Given the description of an element on the screen output the (x, y) to click on. 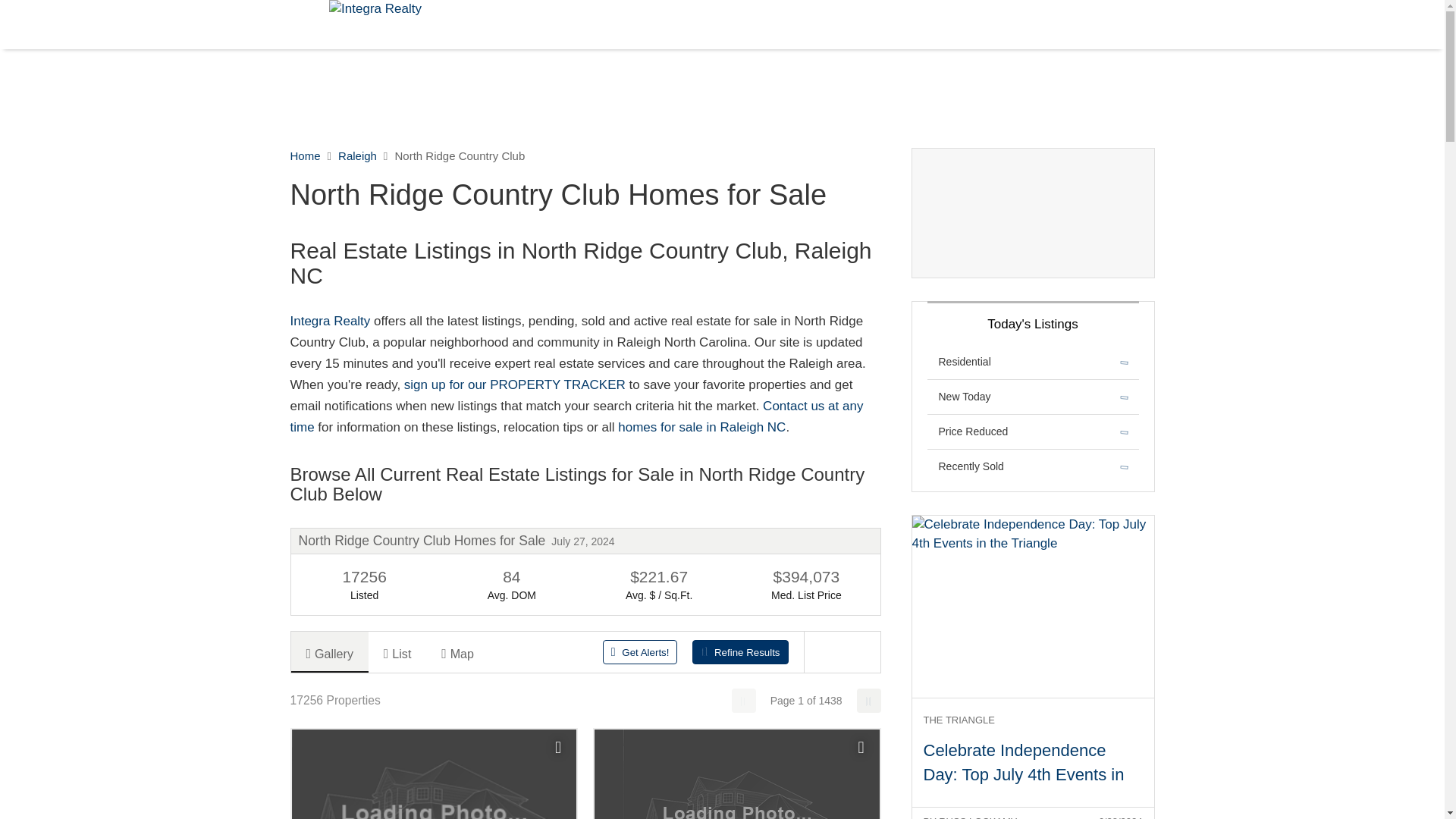
Home (304, 155)
